Given the description of an element on the screen output the (x, y) to click on. 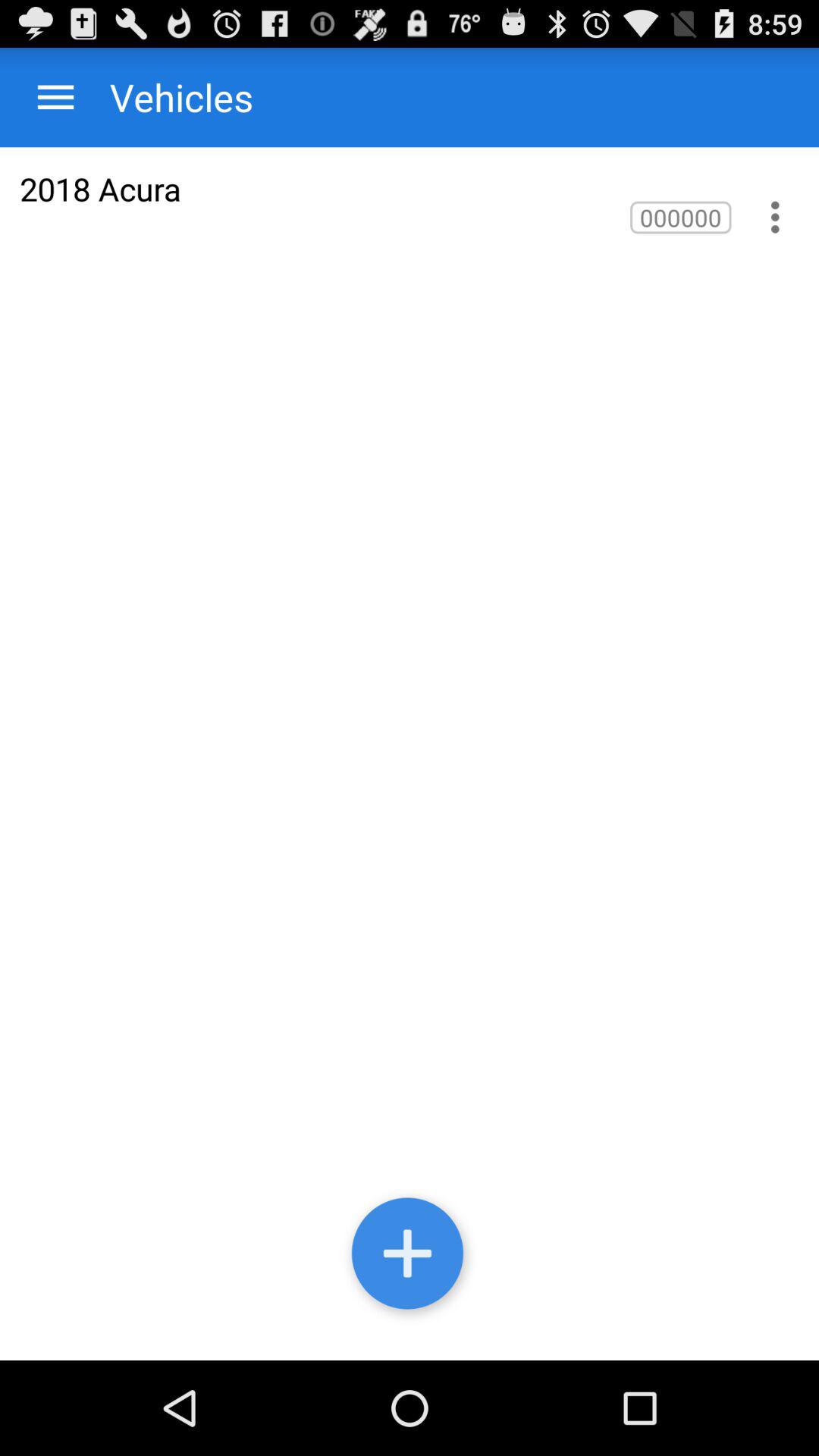
open options (55, 97)
